Given the description of an element on the screen output the (x, y) to click on. 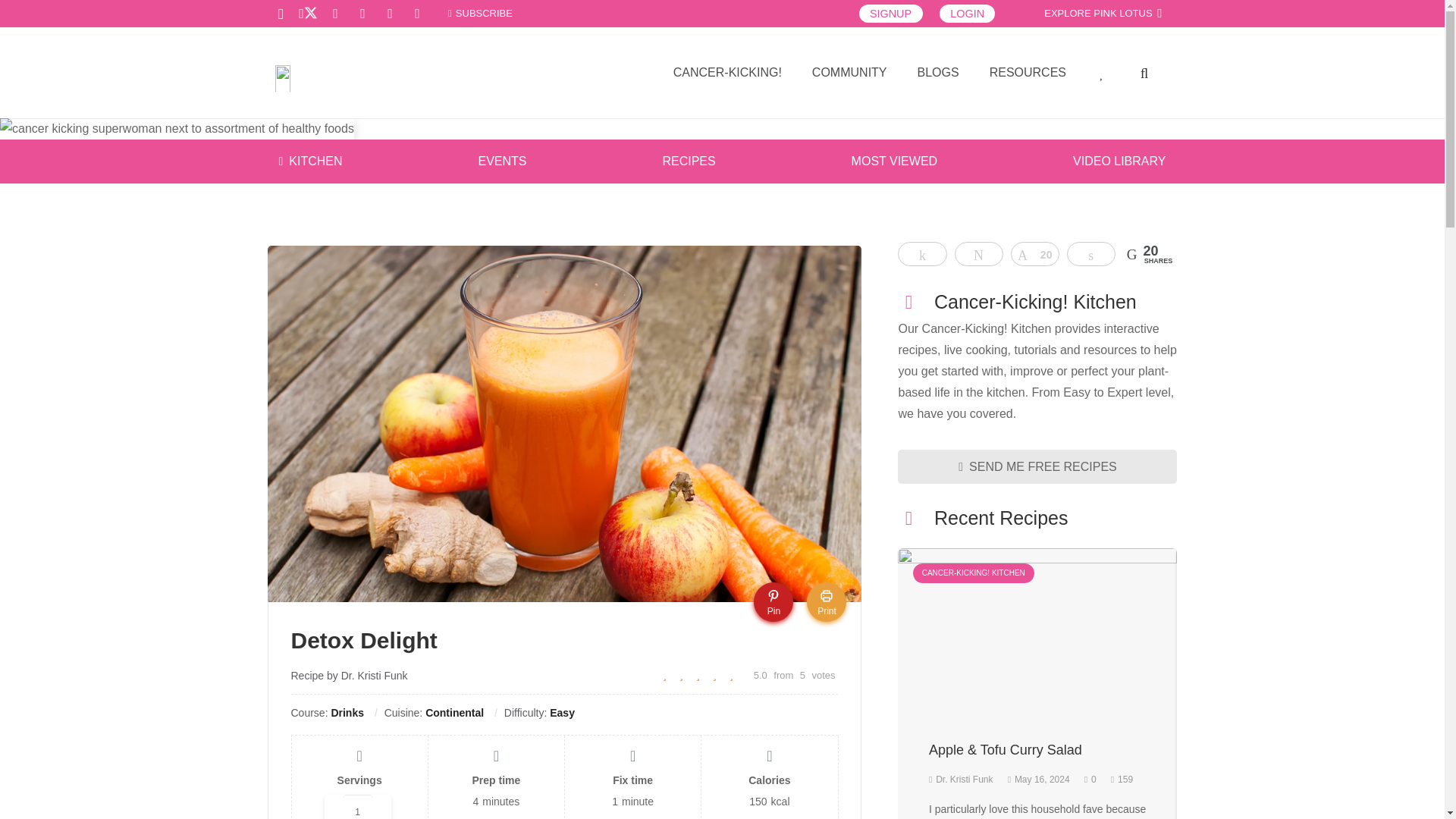
LOGIN (967, 13)
Vimeo (362, 13)
YouTube (335, 13)
Pinterest (389, 13)
Instagram (280, 13)
SUBSCRIBE (480, 12)
COMMUNITY (849, 72)
EXPLORE PINK LOTUS (1102, 13)
Facebook (416, 13)
Print directions (825, 601)
